Given the description of an element on the screen output the (x, y) to click on. 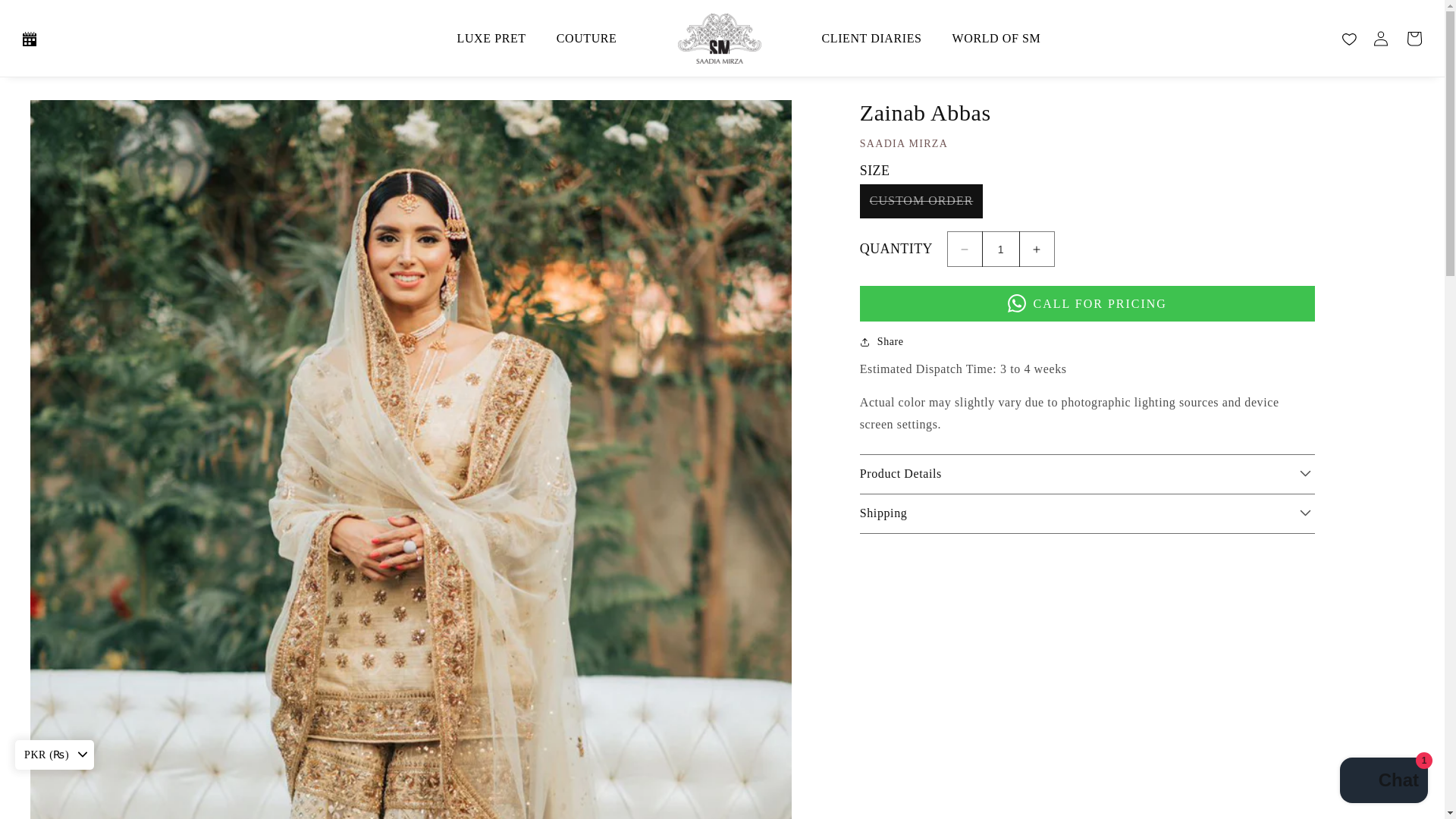
COUTURE (586, 37)
LUXE PRET (491, 37)
1 (1000, 248)
Shopify online store chat (1383, 781)
Skip to content (45, 17)
